Given the description of an element on the screen output the (x, y) to click on. 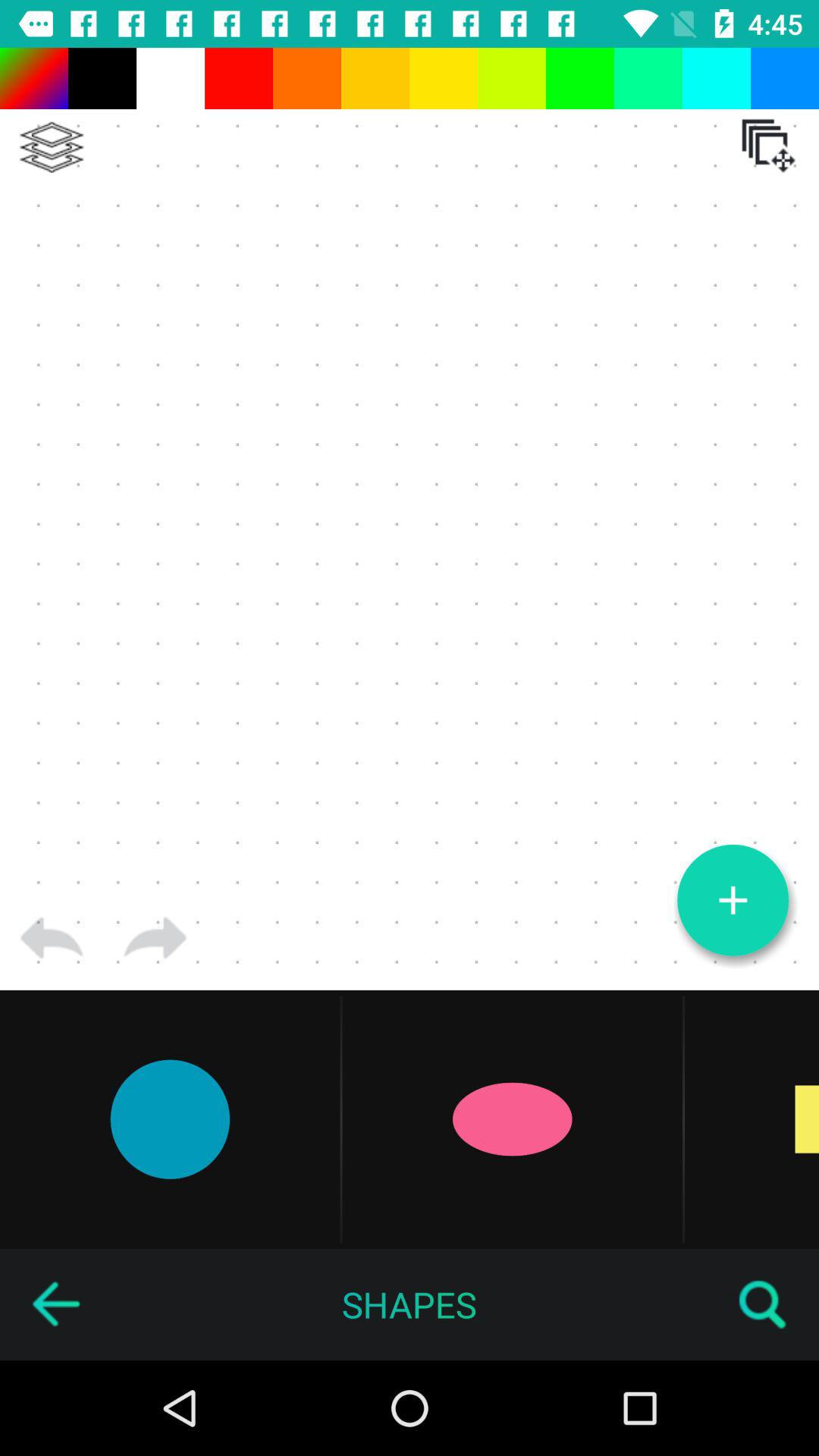
open the item at the top left corner (51, 147)
